Given the description of an element on the screen output the (x, y) to click on. 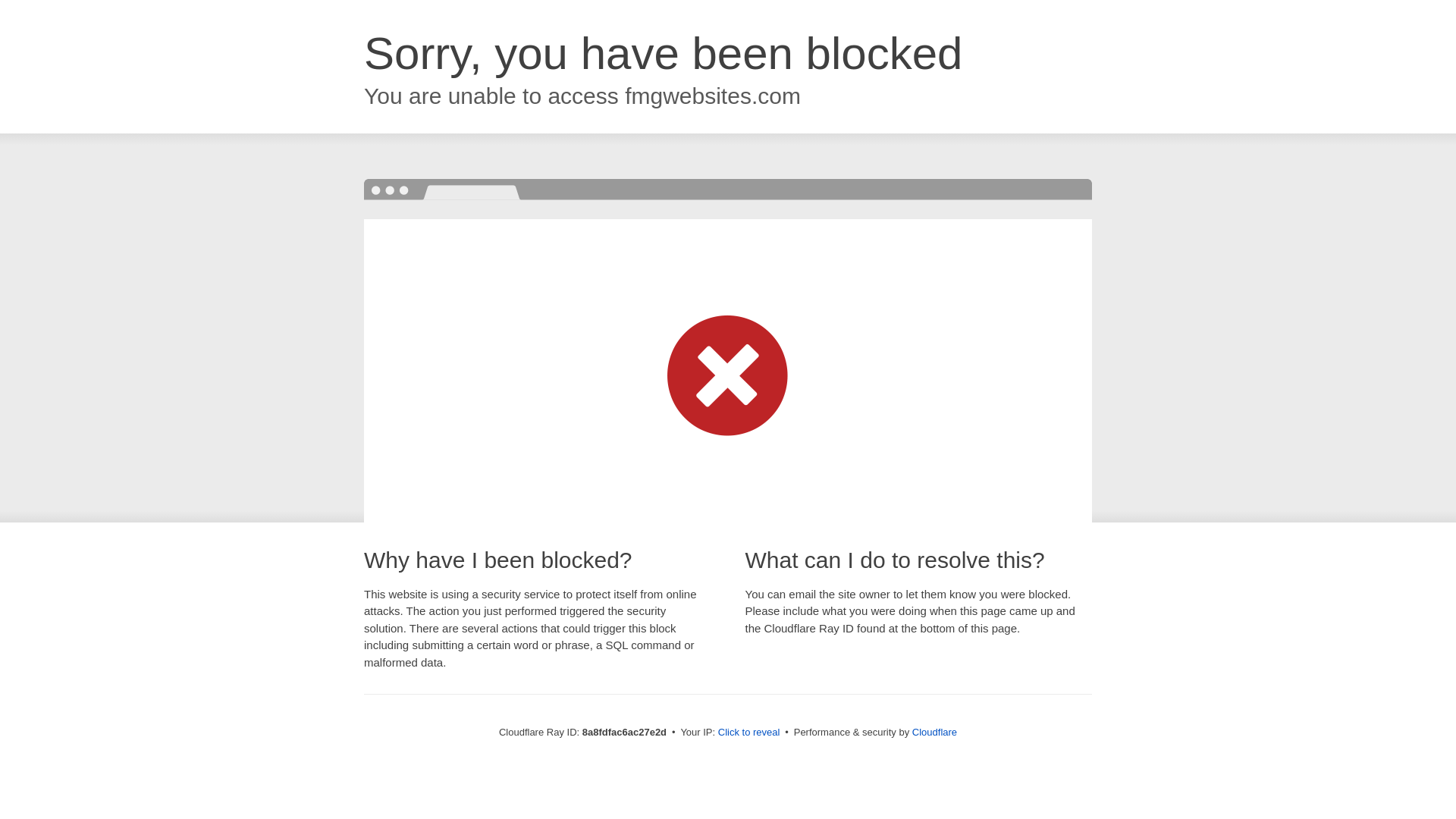
Cloudflare (934, 731)
Click to reveal (748, 732)
